Given the description of an element on the screen output the (x, y) to click on. 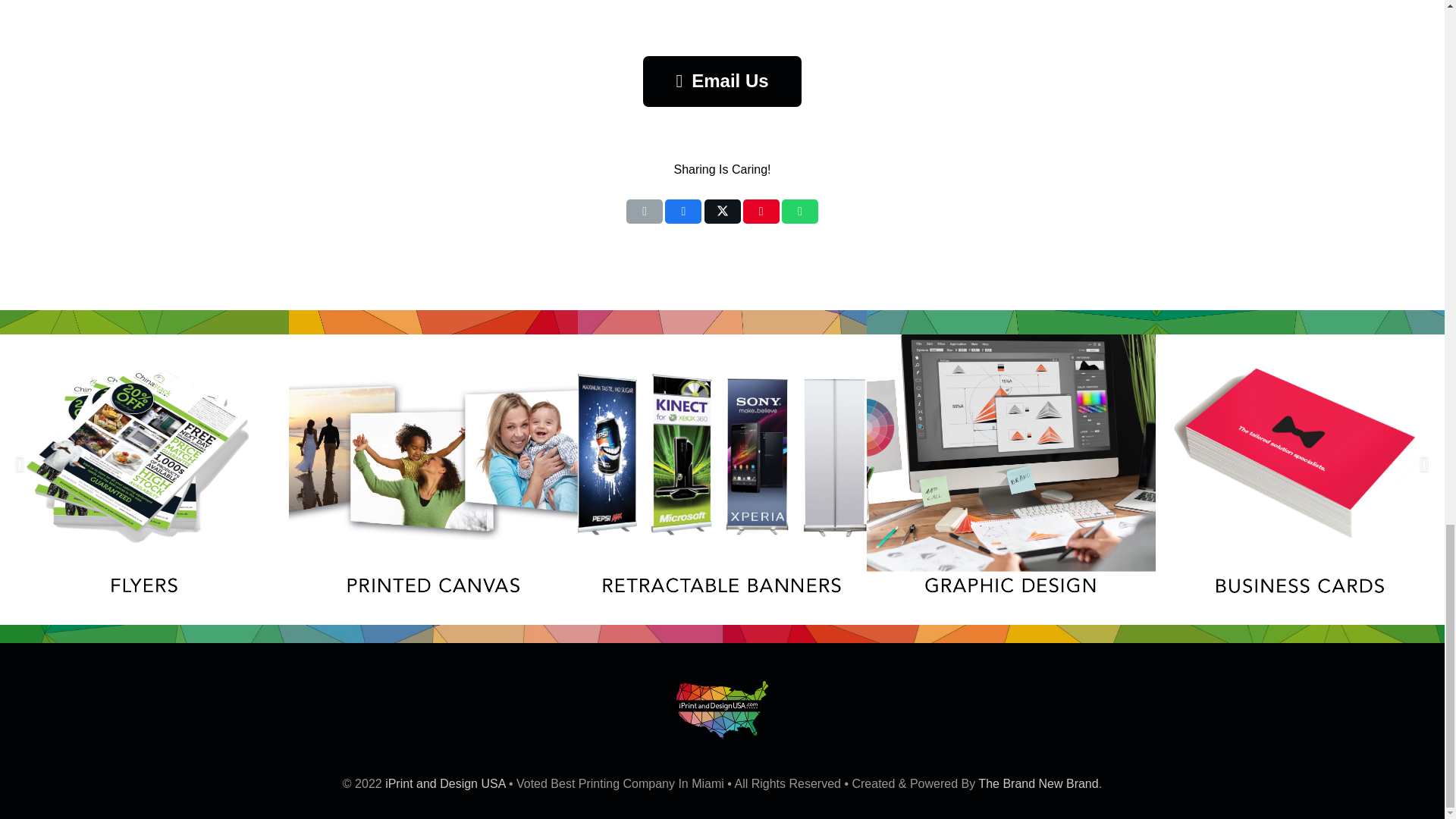
Tweet this (721, 211)
Email this (644, 211)
Share this (799, 211)
Share this (683, 211)
Pin this (760, 211)
